Given the description of an element on the screen output the (x, y) to click on. 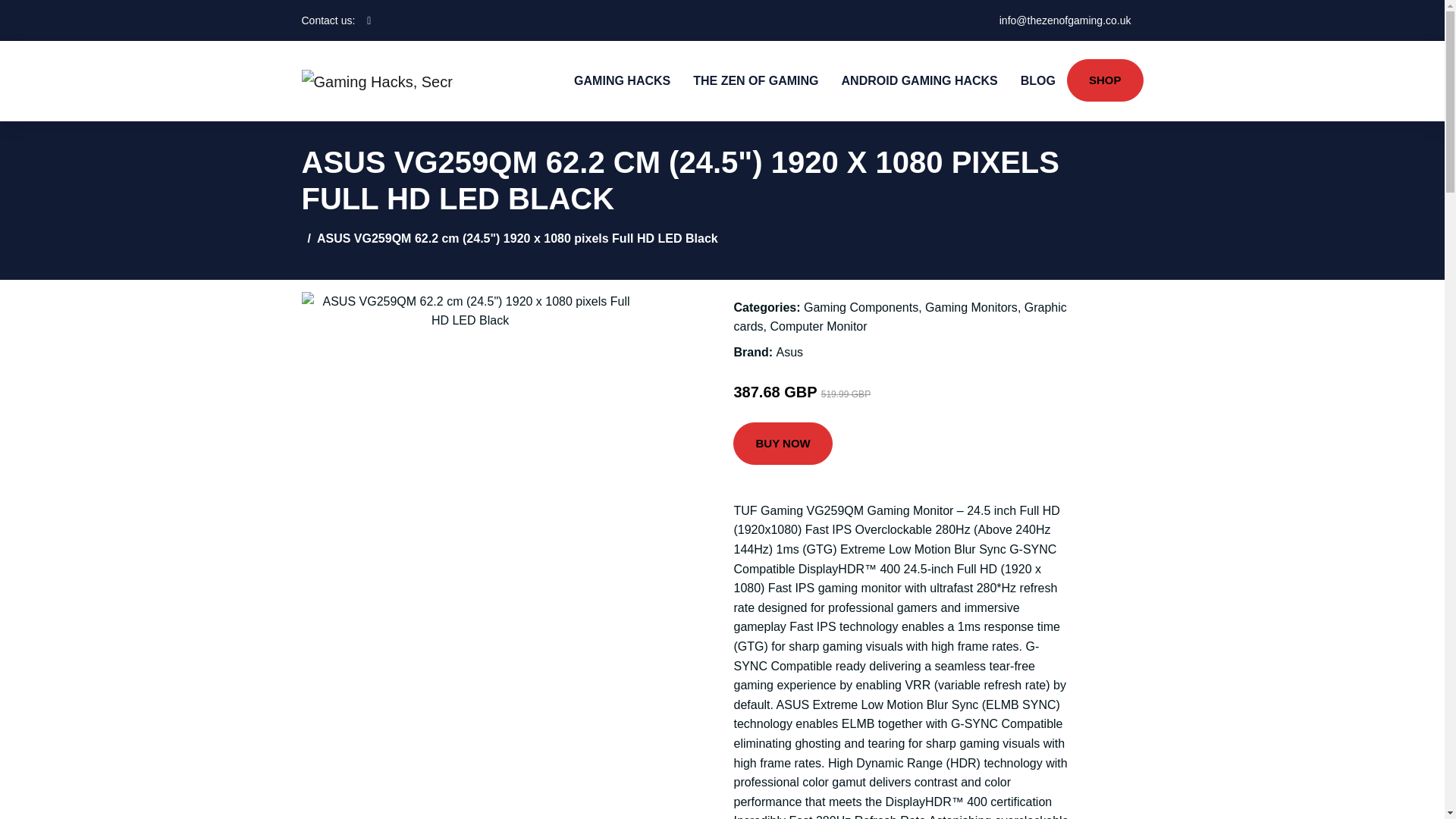
SHOP (1104, 79)
Gaming Monitors (970, 307)
BUY NOW (782, 443)
Gaming Components (860, 307)
Graphic cards (899, 317)
ANDROID GAMING HACKS (919, 80)
Computer Monitor (818, 326)
THE ZEN OF GAMING (755, 80)
GAMING HACKS (621, 80)
